Given the description of an element on the screen output the (x, y) to click on. 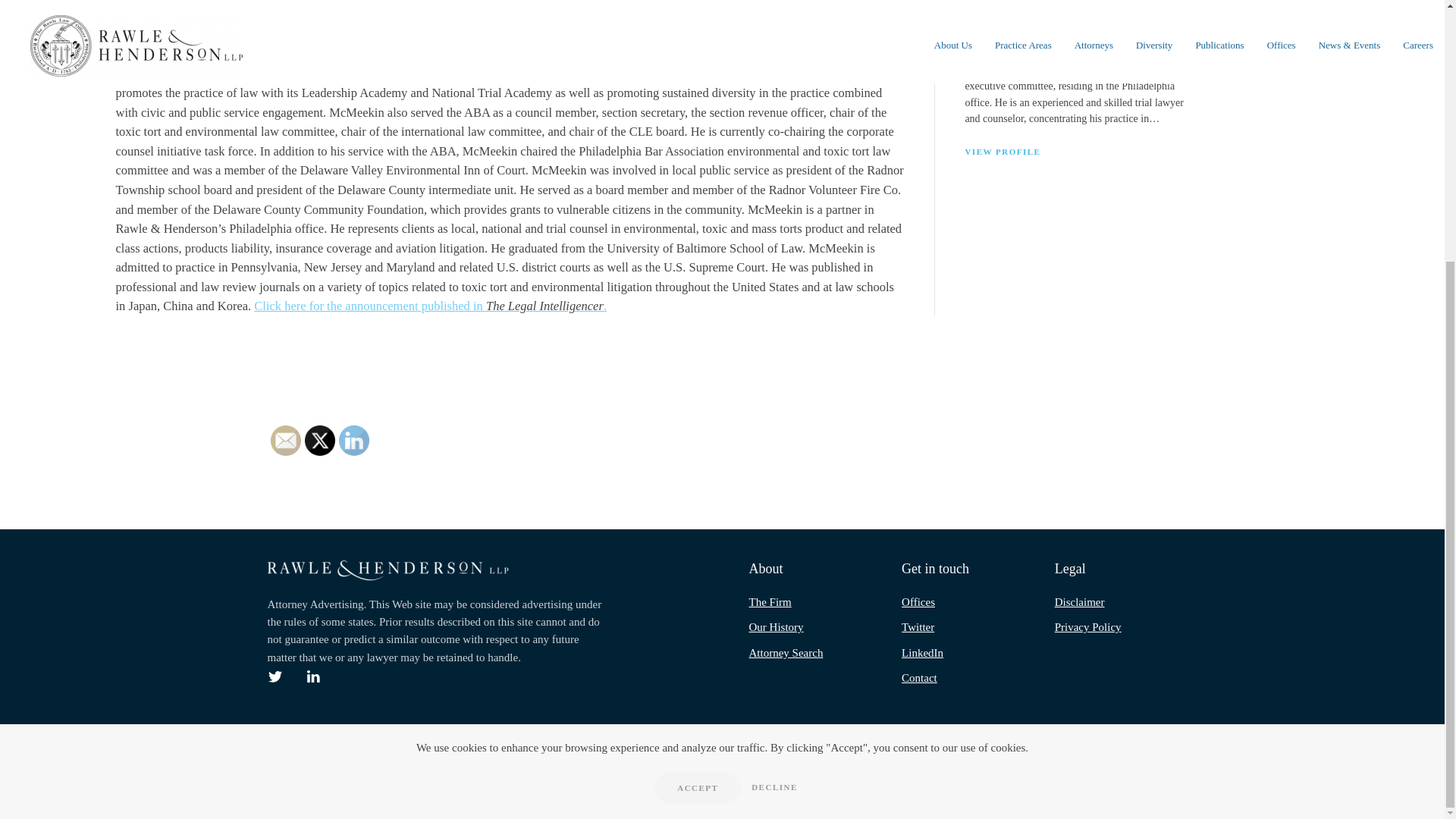
LinkedIn (352, 440)
Follow by Email (284, 440)
Twitter (319, 440)
Back to Top (1166, 780)
